Given the description of an element on the screen output the (x, y) to click on. 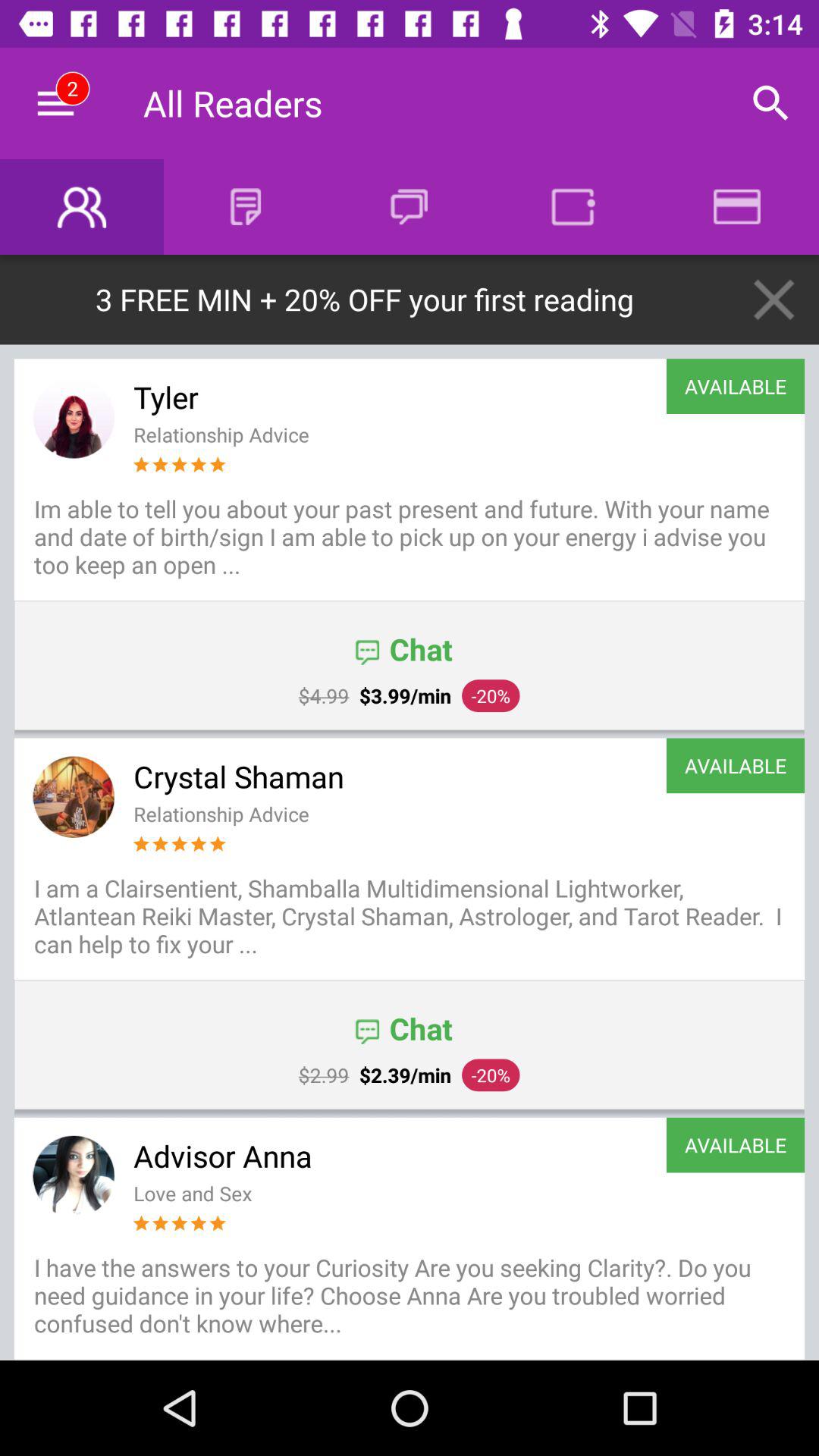
launch the icon next to the all readers item (771, 103)
